Given the description of an element on the screen output the (x, y) to click on. 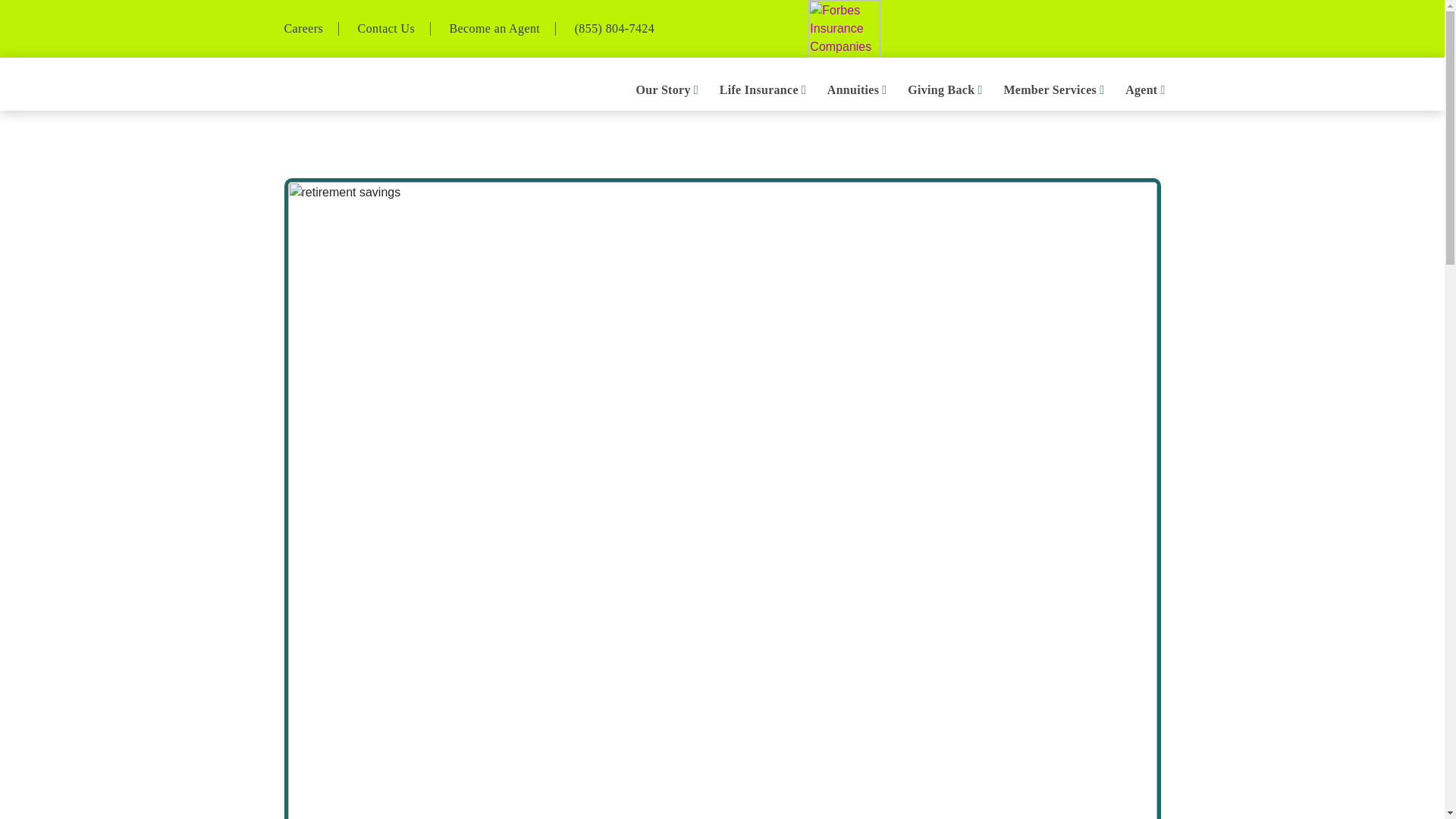
Careers (303, 29)
Life Insurance (759, 90)
Contact Us (386, 29)
Annuities (853, 90)
Become an Agent (494, 29)
Giving Back (940, 90)
Our Story (663, 90)
